Given the description of an element on the screen output the (x, y) to click on. 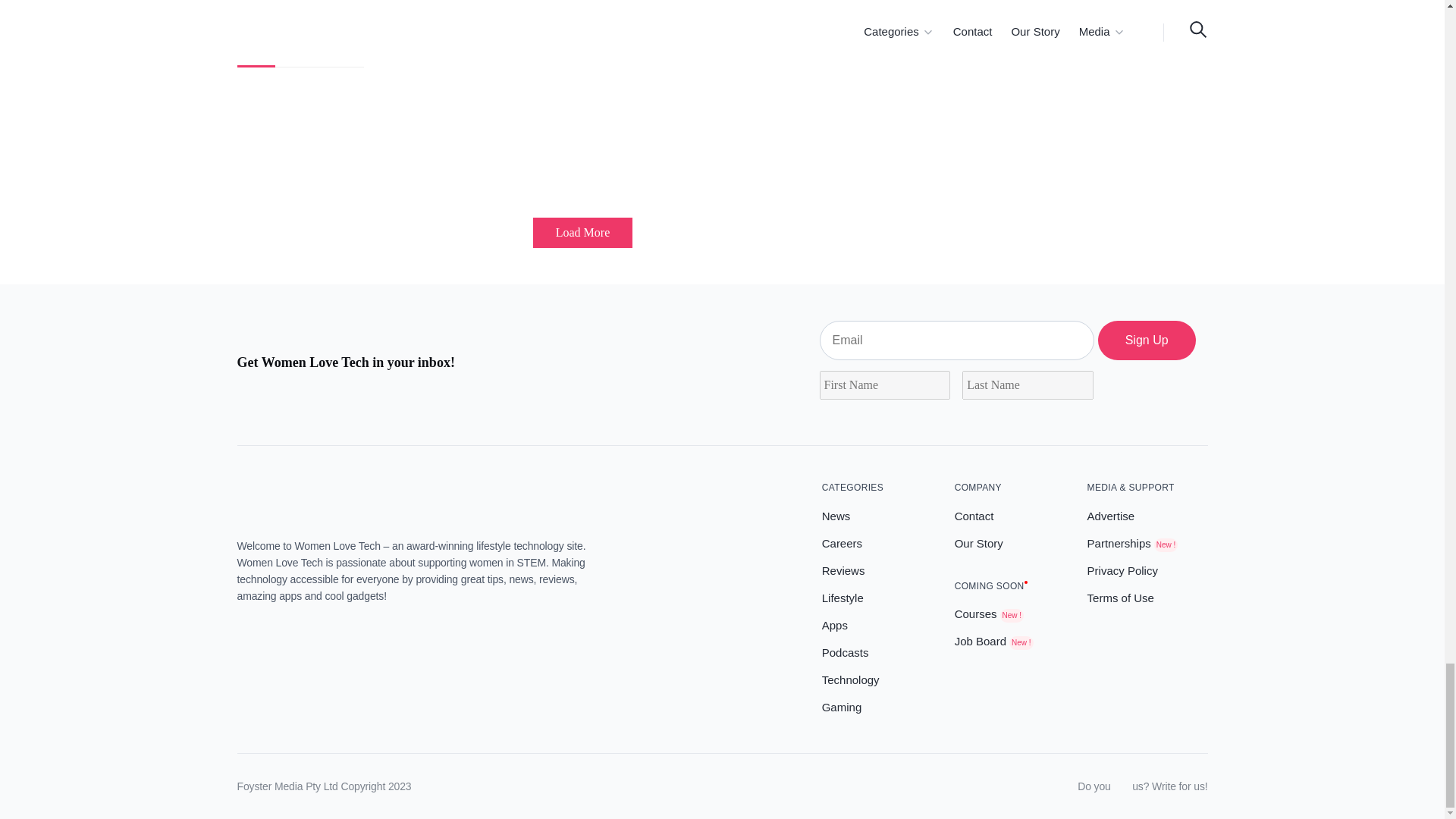
Sign Up (1146, 340)
